Given the description of an element on the screen output the (x, y) to click on. 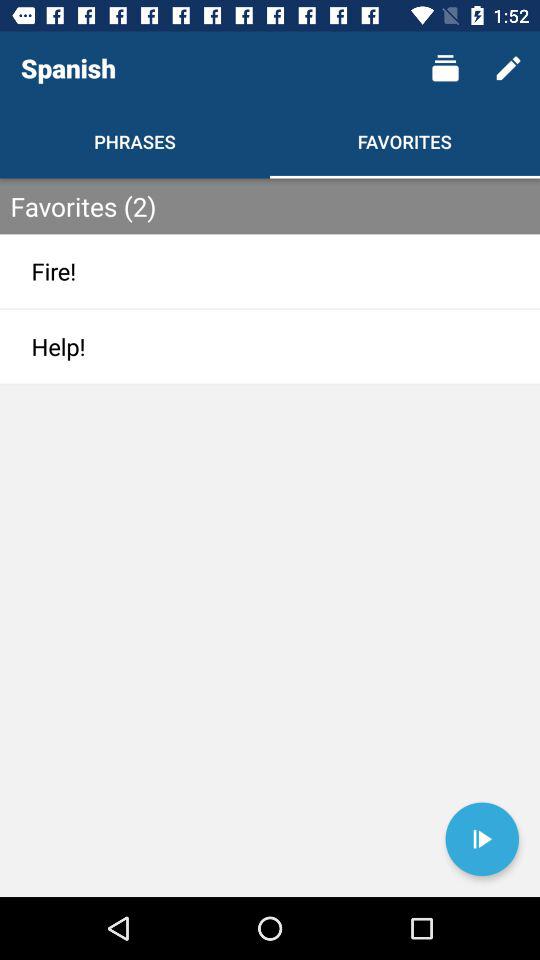
tap the item above favorites (2) icon (508, 67)
